Given the description of an element on the screen output the (x, y) to click on. 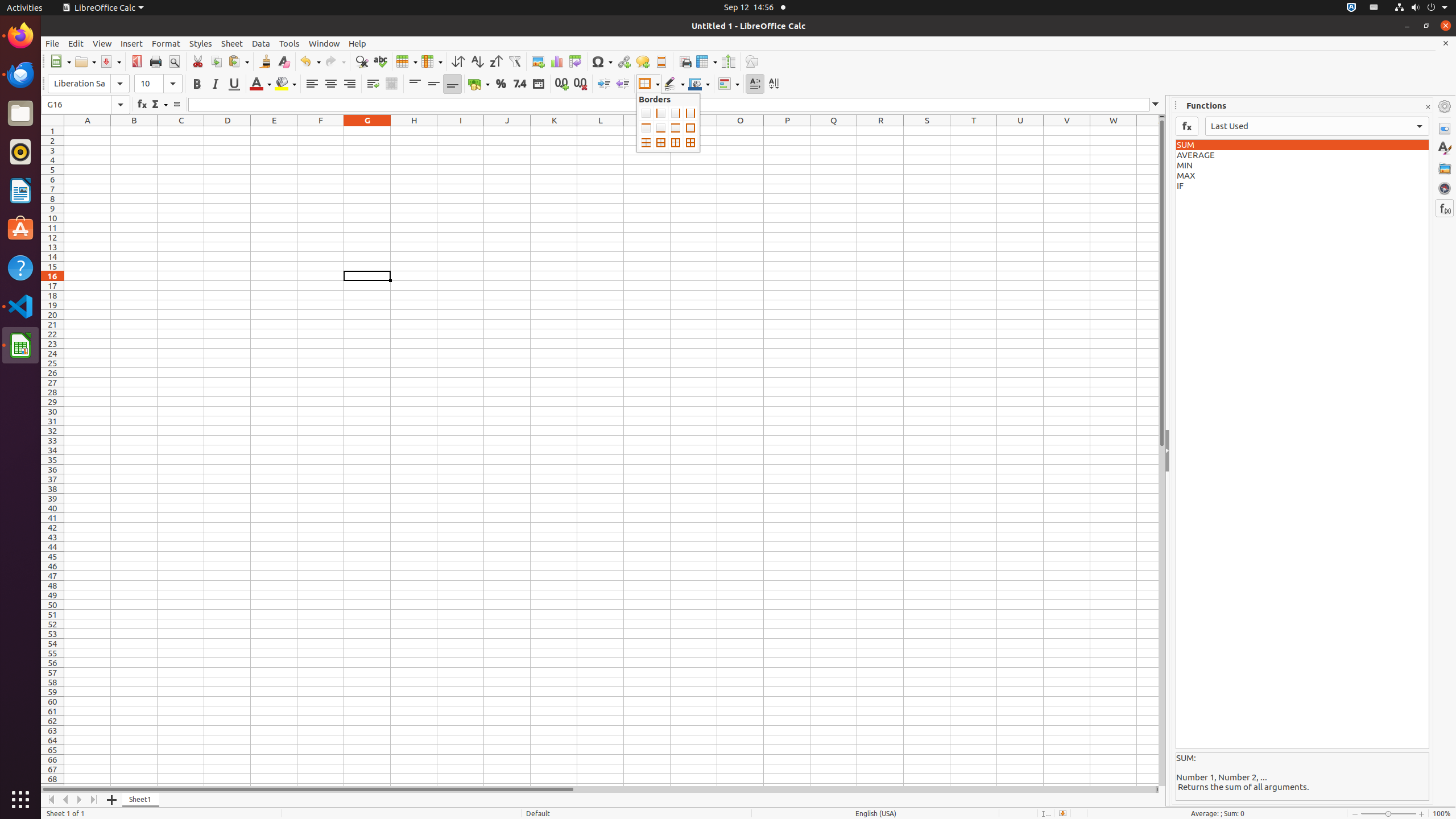
R1 Element type: table-cell (880, 130)
Q1 Element type: table-cell (833, 130)
Files Element type: push-button (20, 113)
System Element type: menu (1420, 7)
